Given the description of an element on the screen output the (x, y) to click on. 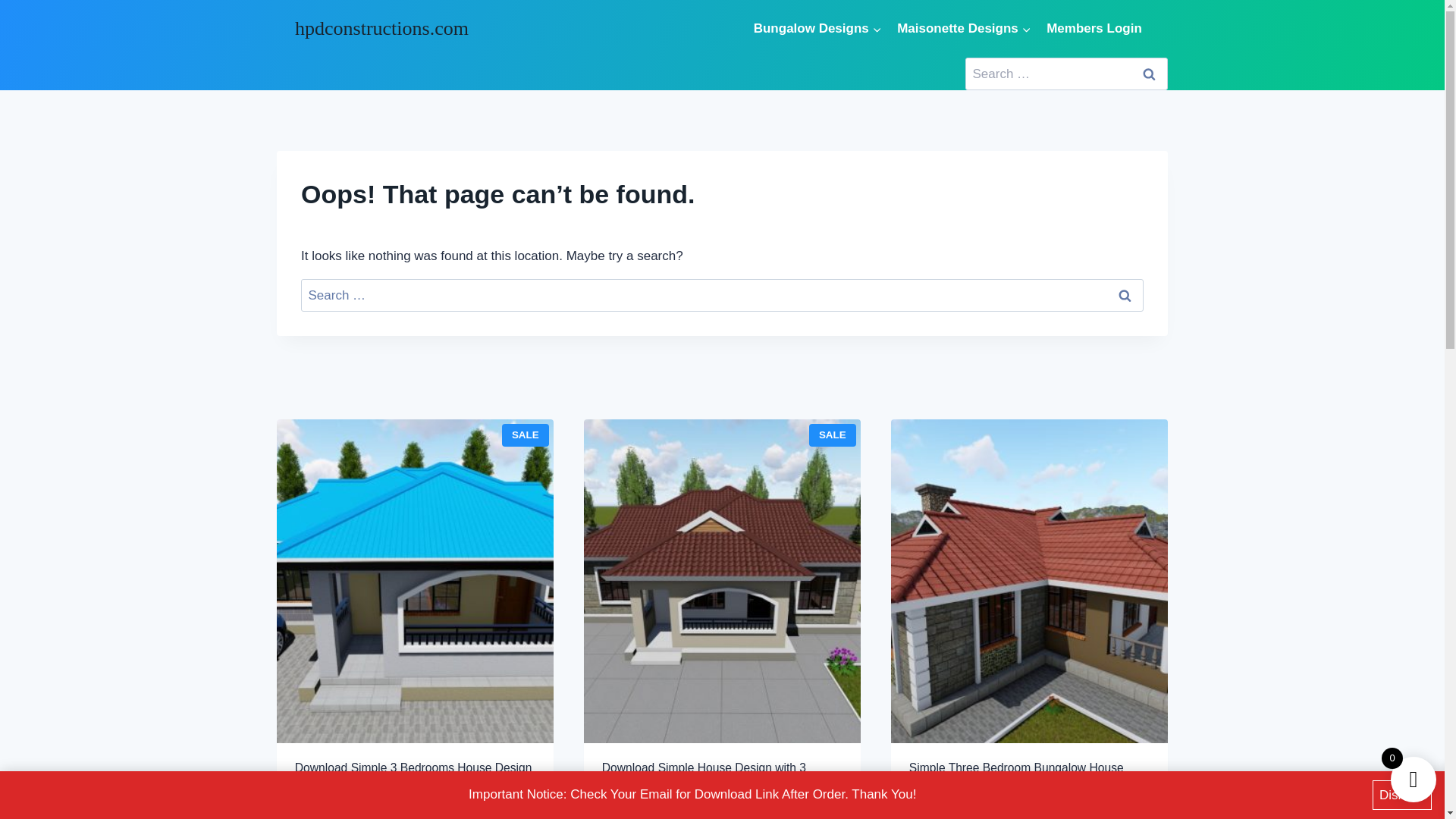
READ MORE (951, 809)
Search (1148, 73)
Members Login (1094, 28)
Search (1148, 73)
Simple Three Bedroom Bungalow House Design (1029, 772)
Search (1123, 295)
hpdconstructions.com (381, 28)
Search (1123, 295)
Search (1148, 73)
Bungalow Designs (817, 28)
Maisonette Designs (964, 28)
Search (1123, 295)
